Given the description of an element on the screen output the (x, y) to click on. 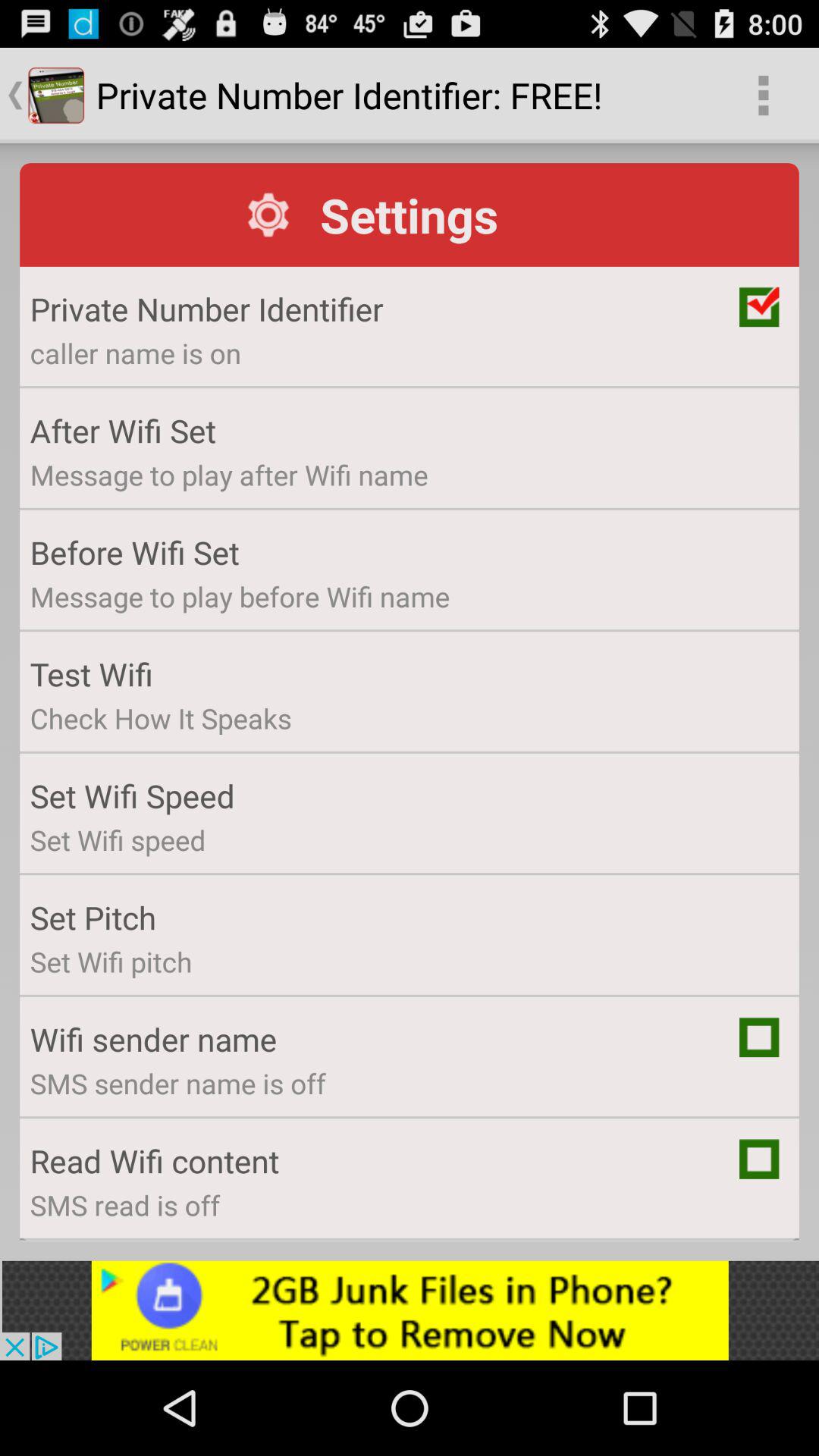
mark item (759, 1037)
